Given the description of an element on the screen output the (x, y) to click on. 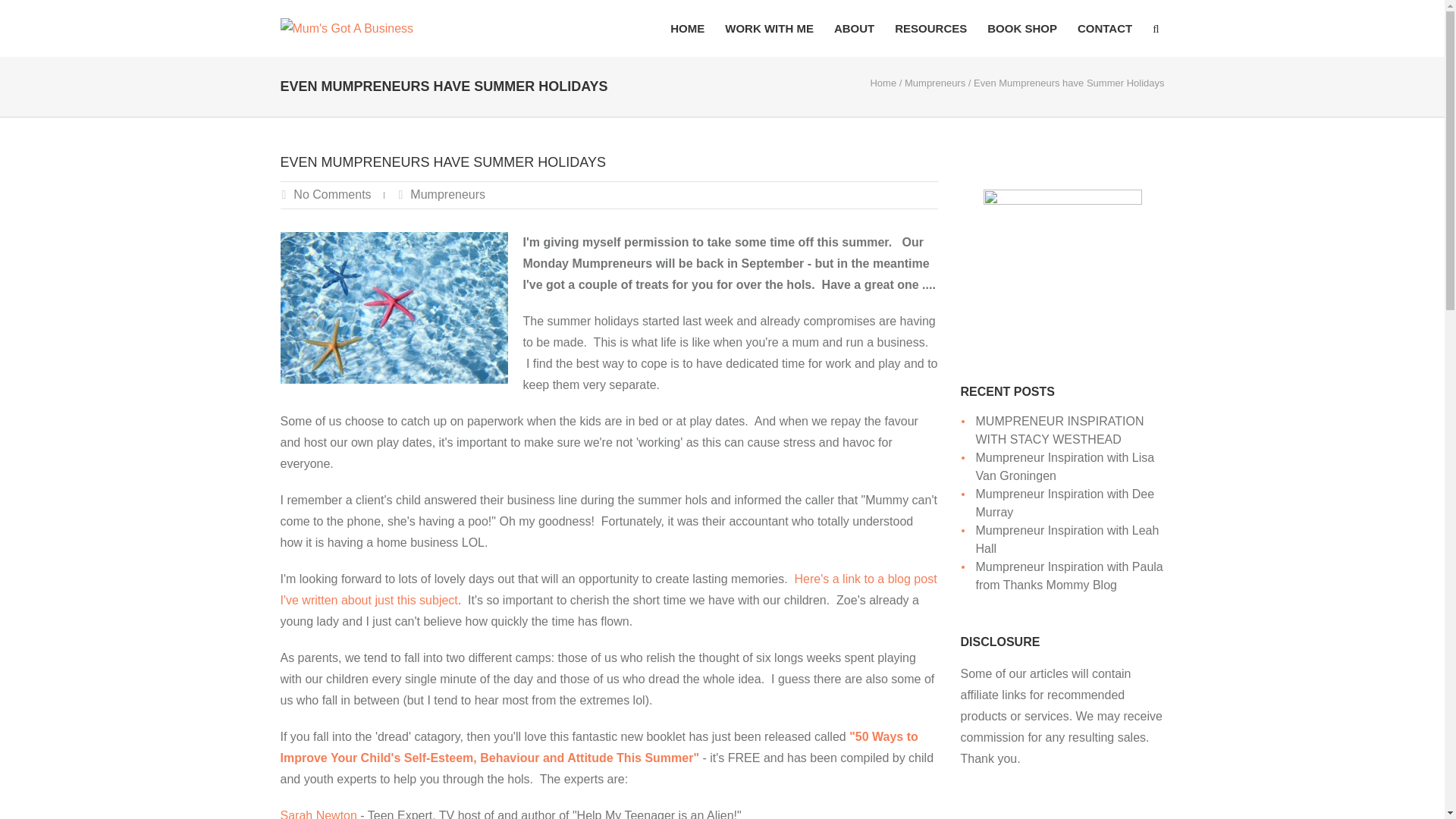
No Comments (332, 194)
Mumpreneurs (934, 82)
Mumpreneurs (447, 194)
CONTACT (1104, 28)
Home (882, 82)
RESOURCES (930, 28)
BOOK SHOP (1022, 28)
Sarah Newton (318, 814)
WORK WITH ME (768, 28)
